Given the description of an element on the screen output the (x, y) to click on. 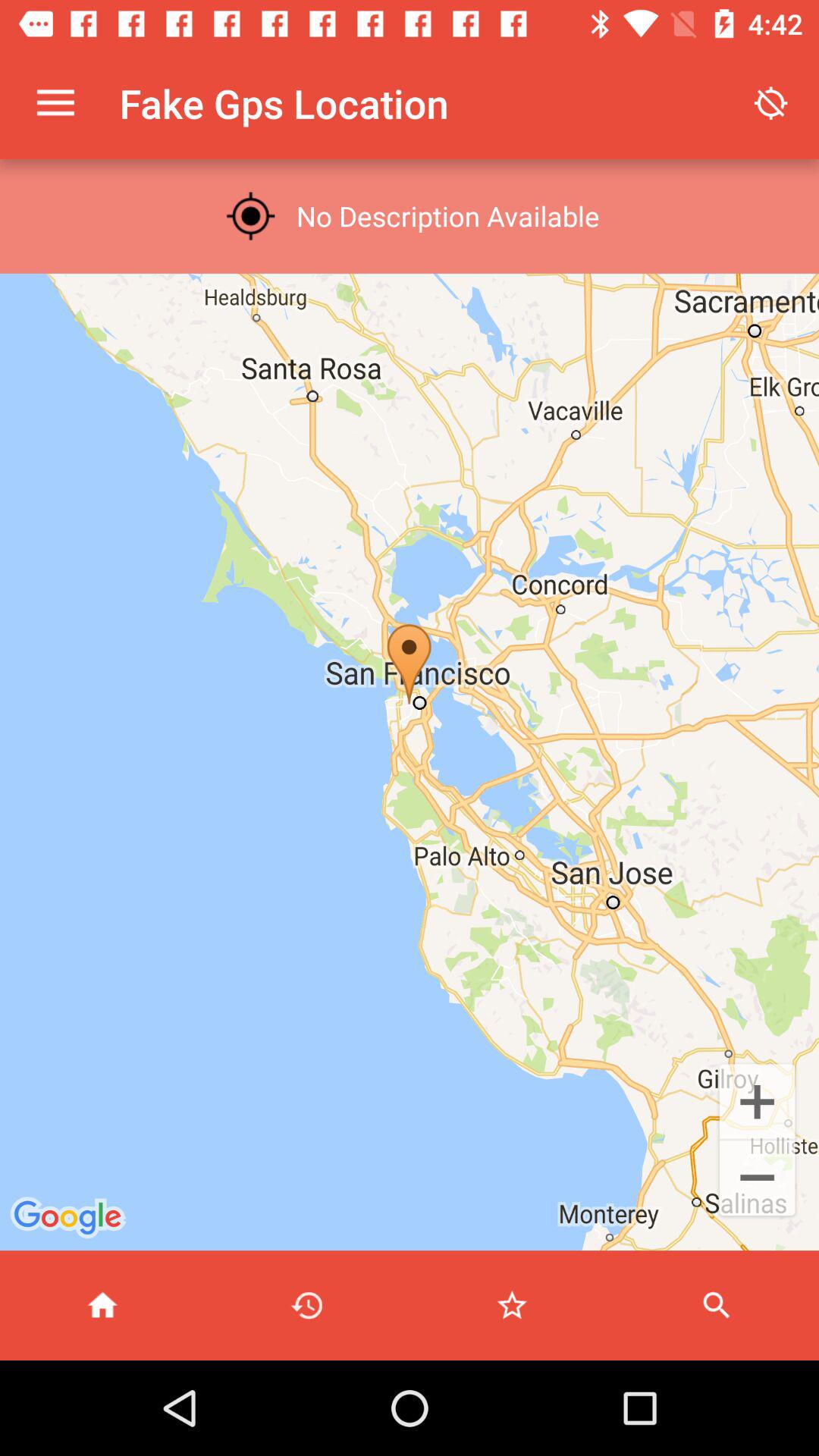
go to home screen (102, 1305)
